Given the description of an element on the screen output the (x, y) to click on. 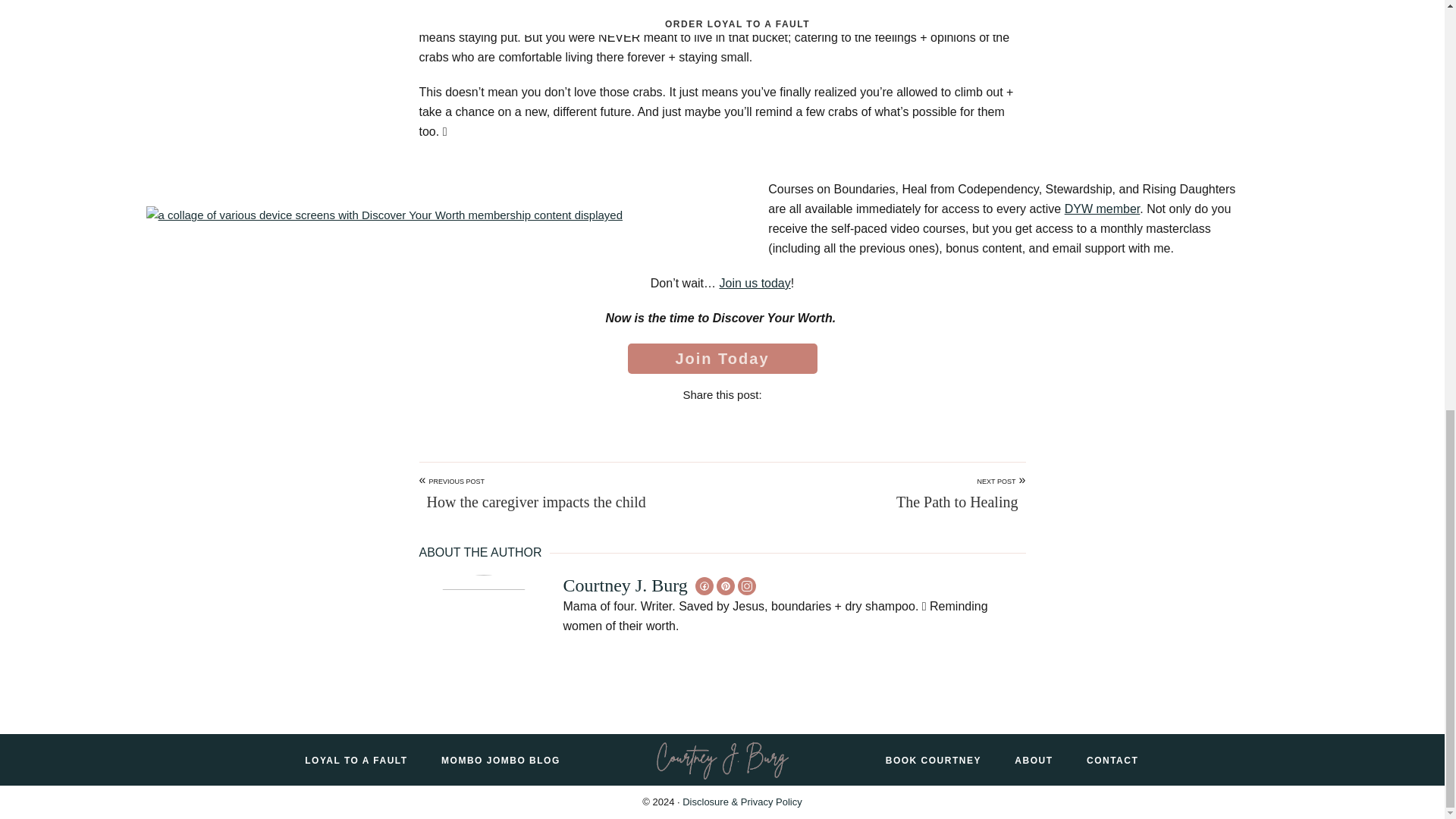
The Path to Healing (957, 502)
Join Today (721, 358)
Join us today (754, 282)
DYW member (1102, 208)
How the caregiver impacts the child (532, 502)
